Given the description of an element on the screen output the (x, y) to click on. 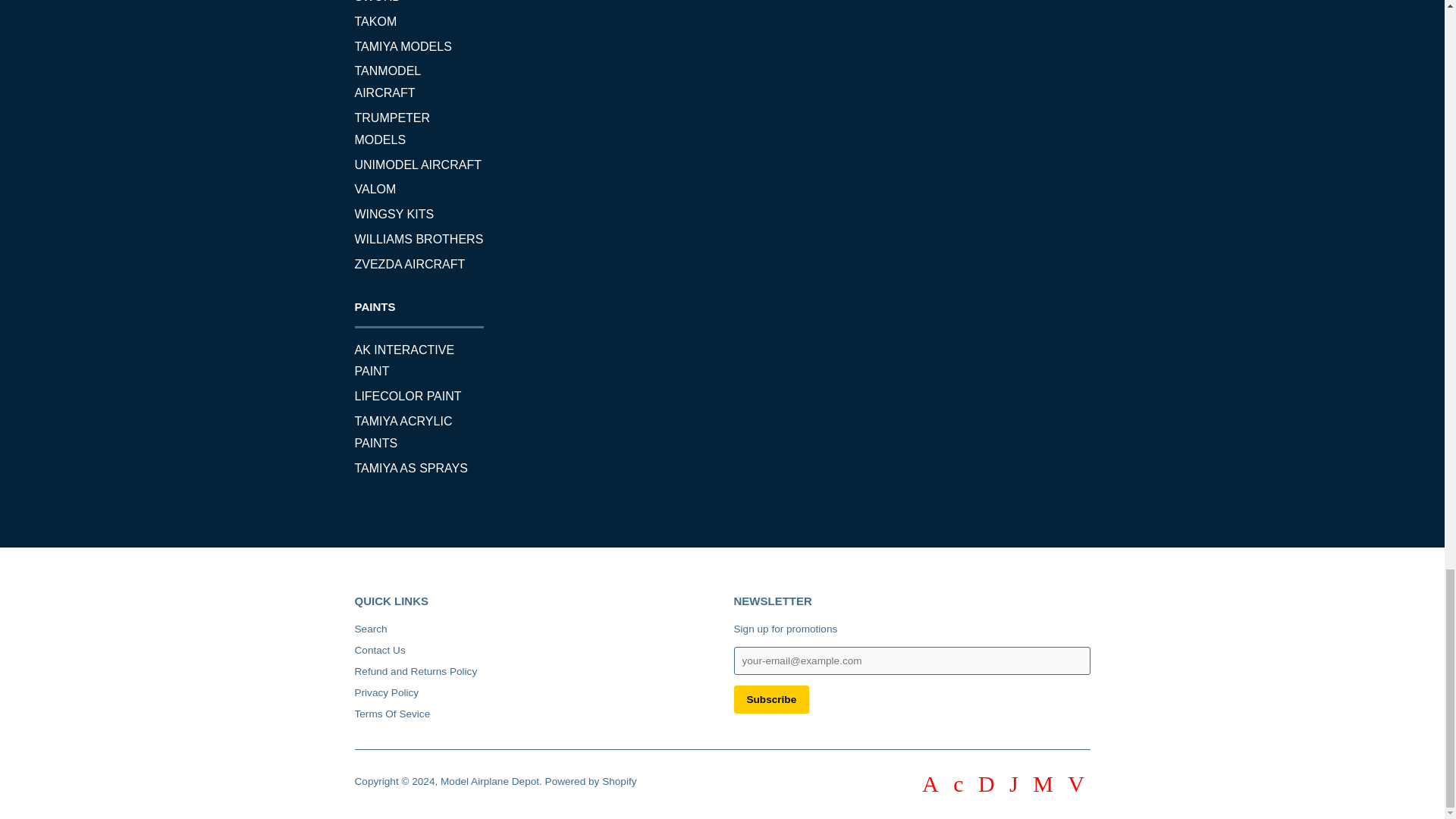
Subscribe (771, 699)
